Given the description of an element on the screen output the (x, y) to click on. 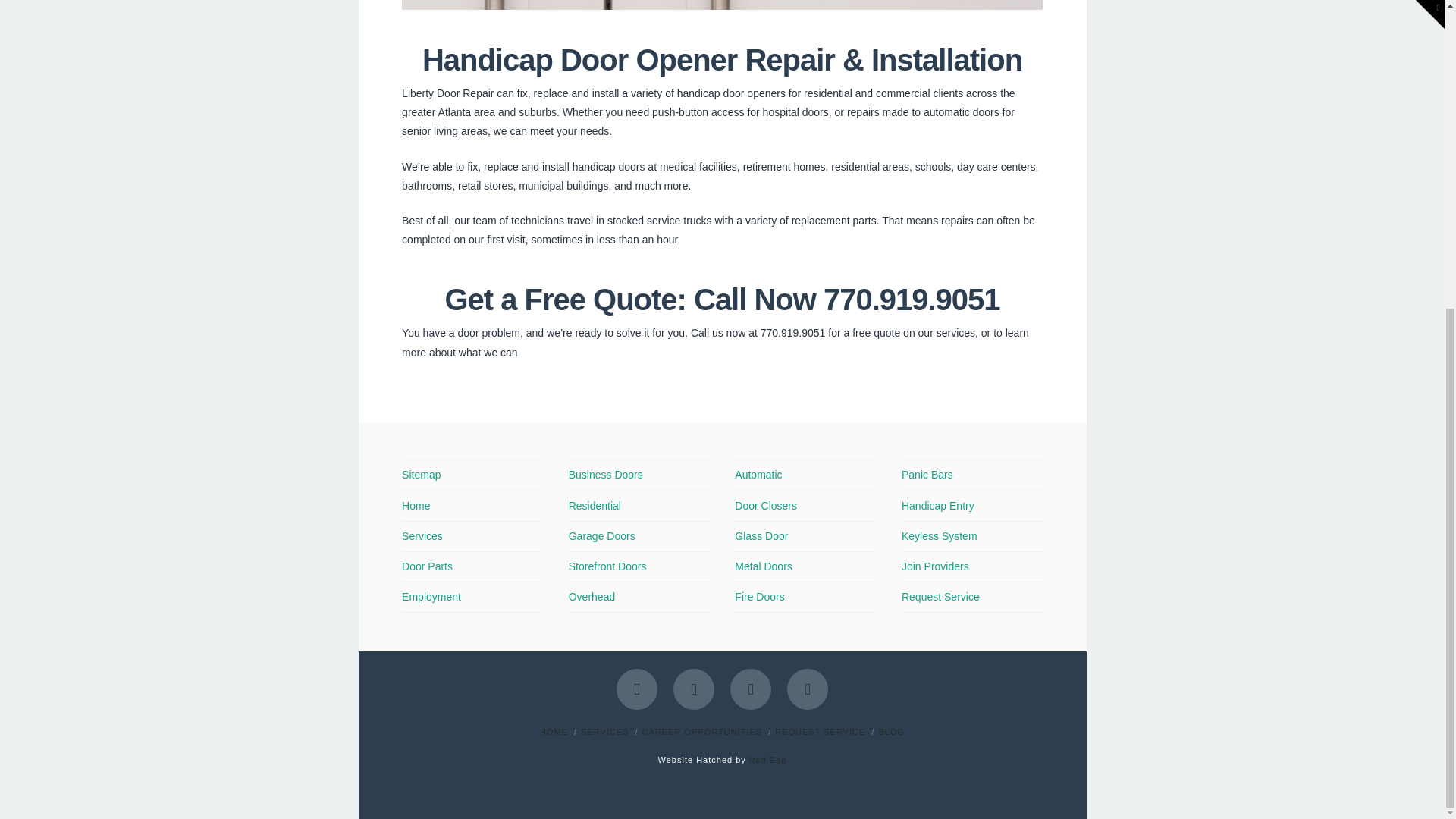
Panic Bars (927, 474)
Facebook (636, 689)
Keyless System (938, 536)
Door Parts (426, 566)
Employment (431, 596)
Garage Doors (601, 536)
Handicap Entry (937, 505)
Sitemap (421, 474)
Storefront Doors (607, 566)
Residential (595, 505)
